Given the description of an element on the screen output the (x, y) to click on. 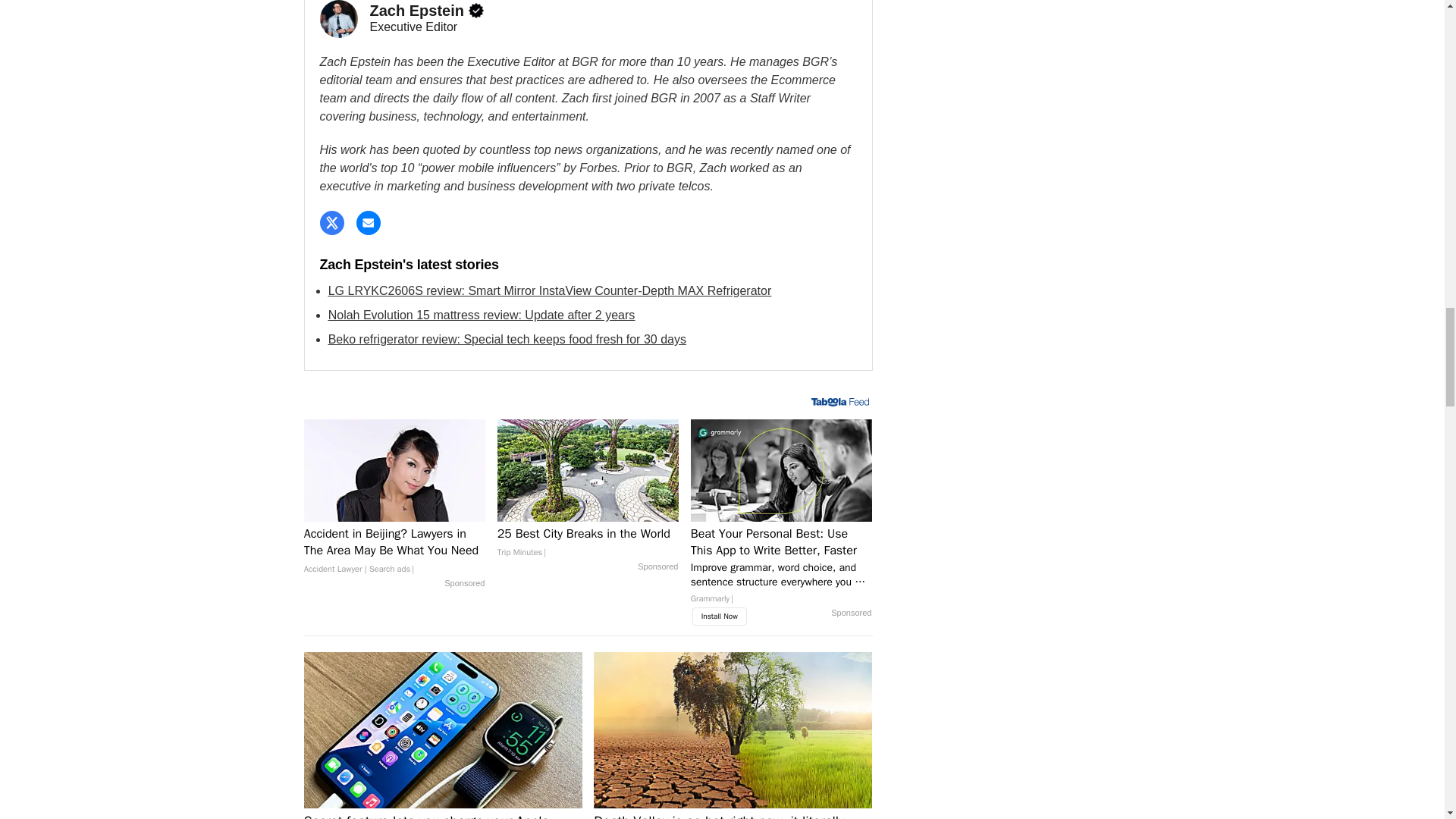
Zach Epstein (339, 18)
25 Best City Breaks in the World (588, 542)
